Given the description of an element on the screen output the (x, y) to click on. 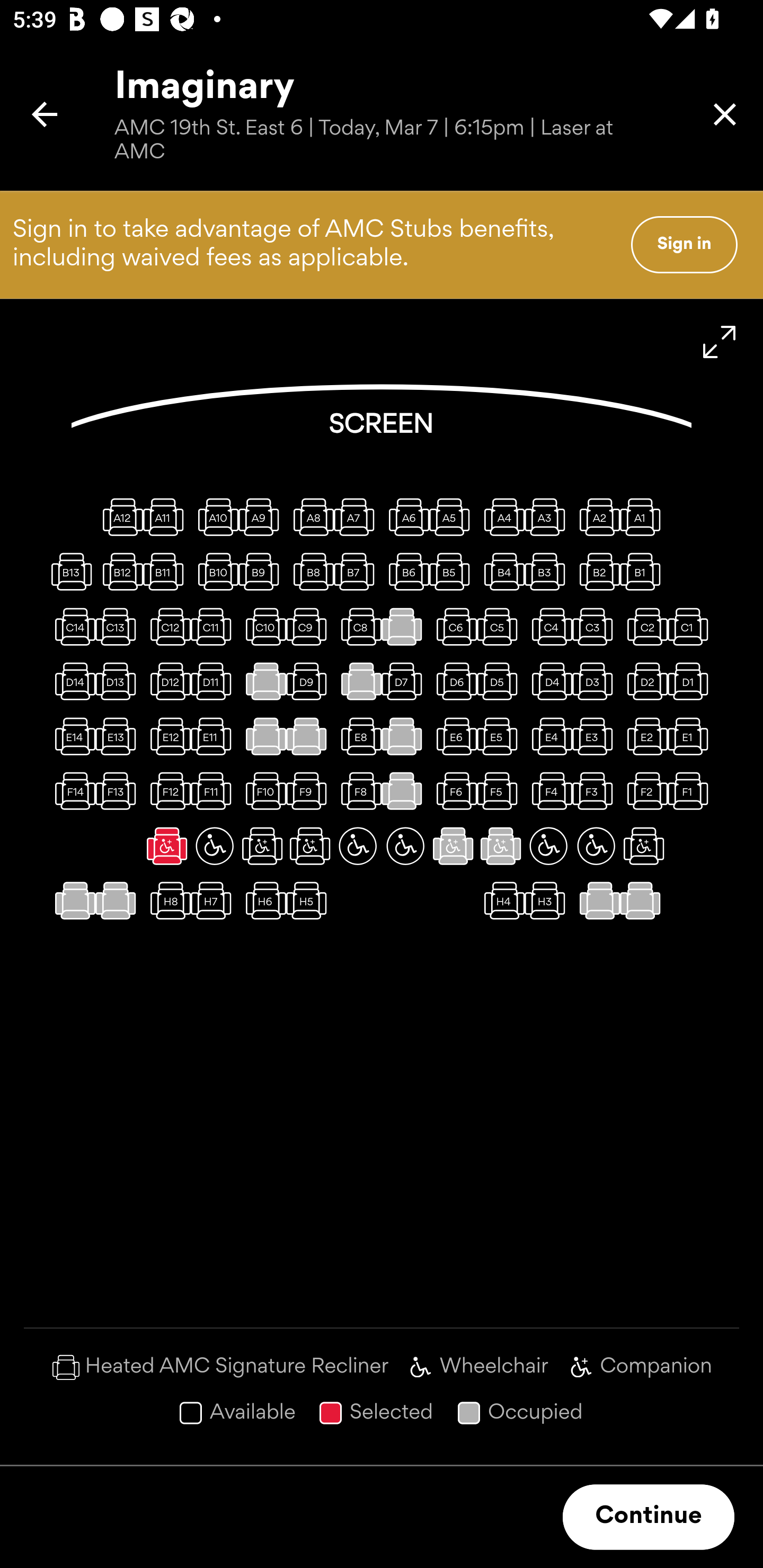
Back (44, 114)
Close (724, 114)
Sign in (684, 244)
Zoom (719, 342)
A12, Regular seat, available (119, 516)
A11, Regular seat, available (166, 516)
A10, Regular seat, available (214, 516)
A9, Regular seat, available (262, 516)
A8, Regular seat, available (310, 516)
A7, Regular seat, available (357, 516)
A6, Regular seat, available (404, 516)
A5, Regular seat, available (452, 516)
A4, Regular seat, available (500, 516)
A3, Regular seat, available (548, 516)
A2, Regular seat, available (595, 516)
A1, Regular seat, available (643, 516)
B13, Regular seat, available (71, 571)
B12, Regular seat, available (119, 571)
B11, Regular seat, available (166, 571)
B10, Regular seat, available (214, 571)
B9, Regular seat, available (262, 571)
B8, Regular seat, available (310, 571)
B7, Regular seat, available (357, 571)
B6, Regular seat, available (404, 571)
B5, Regular seat, available (452, 571)
B4, Regular seat, available (500, 571)
B3, Regular seat, available (548, 571)
B2, Regular seat, available (595, 571)
B1, Regular seat, available (643, 571)
C14, Regular seat, available (71, 625)
C13, Regular seat, available (119, 625)
C12, Regular seat, available (166, 625)
C11, Regular seat, available (214, 625)
C10, Regular seat, available (262, 625)
C9, Regular seat, available (310, 625)
C8, Regular seat, available (357, 625)
C6, Regular seat, available (452, 625)
C5, Regular seat, available (500, 625)
C4, Regular seat, available (548, 625)
C3, Regular seat, available (595, 625)
C2, Regular seat, available (643, 625)
C1, Regular seat, available (691, 625)
D14, Regular seat, available (71, 680)
D13, Regular seat, available (119, 680)
D12, Regular seat, available (166, 680)
D11, Regular seat, available (214, 680)
D9, Regular seat, available (310, 680)
D7, Regular seat, available (404, 680)
D6, Regular seat, available (452, 680)
D5, Regular seat, available (500, 680)
D4, Regular seat, available (548, 680)
D3, Regular seat, available (595, 680)
D2, Regular seat, available (643, 680)
D1, Regular seat, available (691, 680)
E14, Regular seat, available (71, 735)
E13, Regular seat, available (119, 735)
E12, Regular seat, available (166, 735)
E11, Regular seat, available (214, 735)
E8, Regular seat, available (357, 735)
E6, Regular seat, available (452, 735)
E5, Regular seat, available (500, 735)
E4, Regular seat, available (548, 735)
E3, Regular seat, available (595, 735)
E2, Regular seat, available (643, 735)
E1, Regular seat, available (691, 735)
F14, Regular seat, available (71, 790)
F13, Regular seat, available (119, 790)
F12, Regular seat, available (166, 790)
F11, Regular seat, available (214, 790)
F10, Regular seat, available (262, 790)
F9, Regular seat, available (310, 790)
F8, Regular seat, available (357, 790)
F6, Regular seat, available (452, 790)
F5, Regular seat, available (500, 790)
F4, Regular seat, available (548, 790)
F3, Regular seat, available (595, 790)
F2, Regular seat, available (643, 790)
F1, Regular seat, available (691, 790)
G11, Wheelchair companion seat, selected (166, 845)
G10, Wheelchair space, available (214, 845)
G9, Wheelchair companion seat, available (262, 845)
G8, Wheelchair companion seat, available (310, 845)
G7, Wheelchair space, available (357, 845)
G6, Wheelchair space, available (404, 845)
G3, Wheelchair space, available (548, 845)
G2, Wheelchair space, available (595, 845)
G1, Wheelchair companion seat, available (643, 845)
H8, Regular seat, available (166, 900)
H7, Regular seat, available (214, 900)
H6, Regular seat, available (262, 900)
H5, Regular seat, available (310, 900)
H4, Regular seat, available (500, 900)
H3, Regular seat, available (548, 900)
Continue (648, 1516)
